Given the description of an element on the screen output the (x, y) to click on. 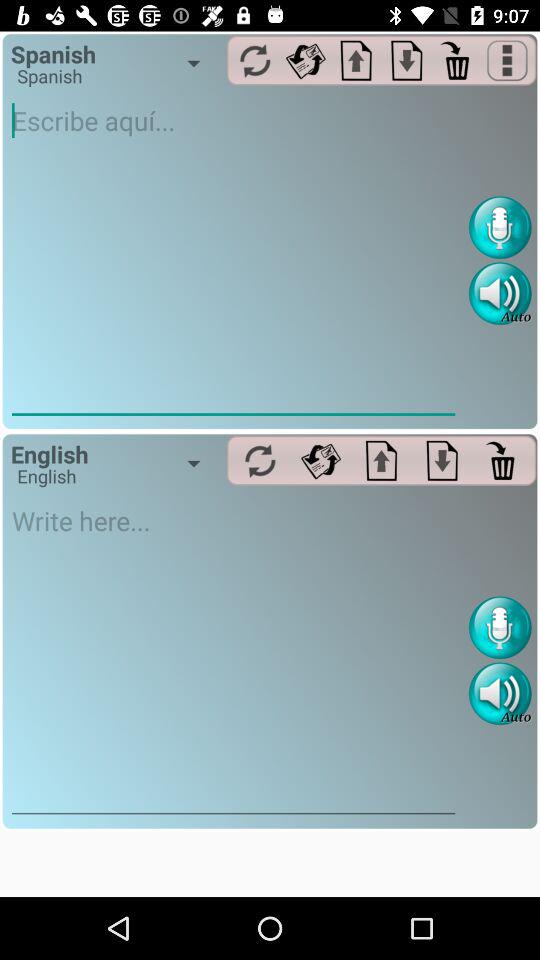
toggle audio option (499, 293)
